Given the description of an element on the screen output the (x, y) to click on. 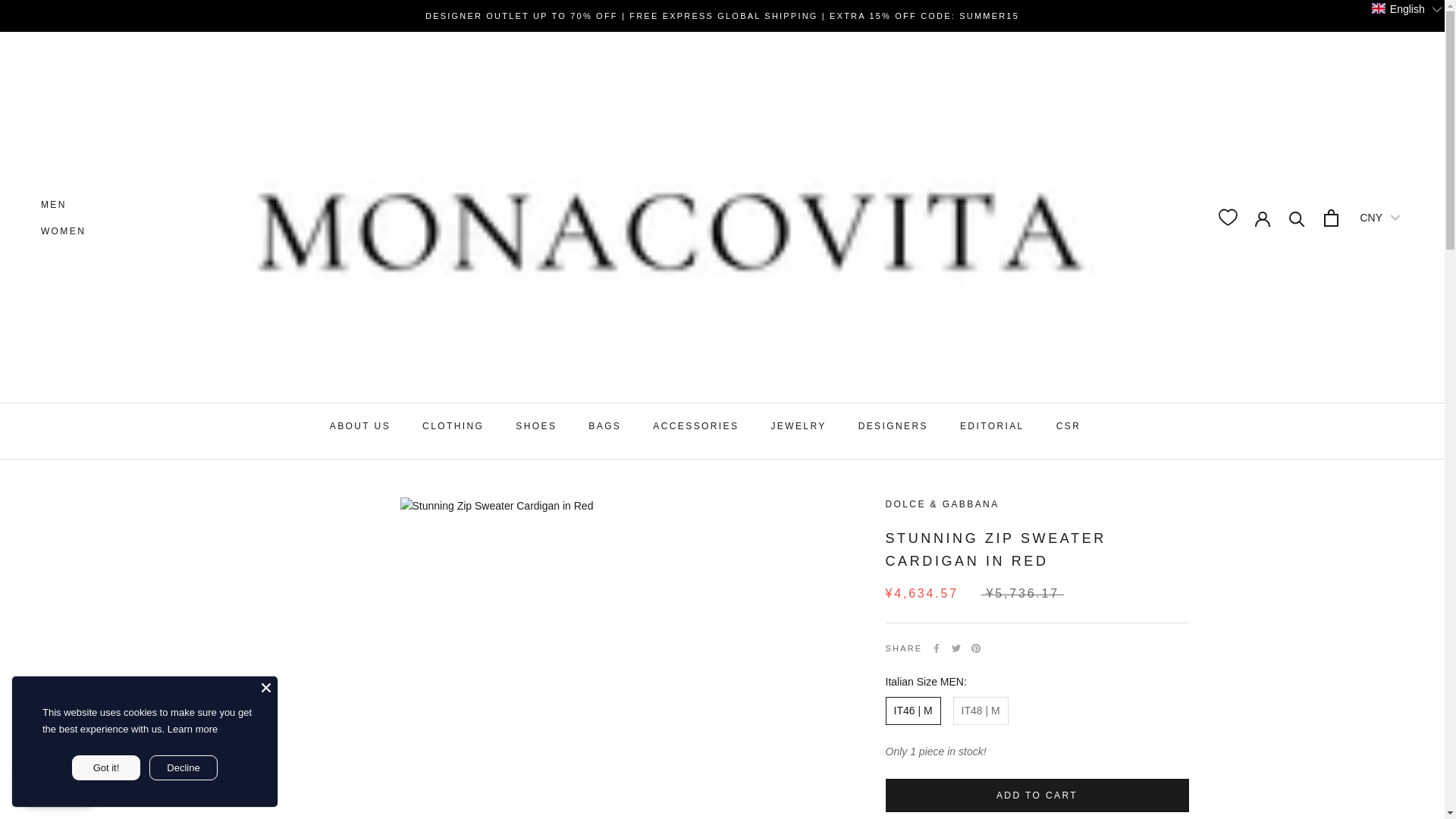
Learn more (191, 728)
